Given the description of an element on the screen output the (x, y) to click on. 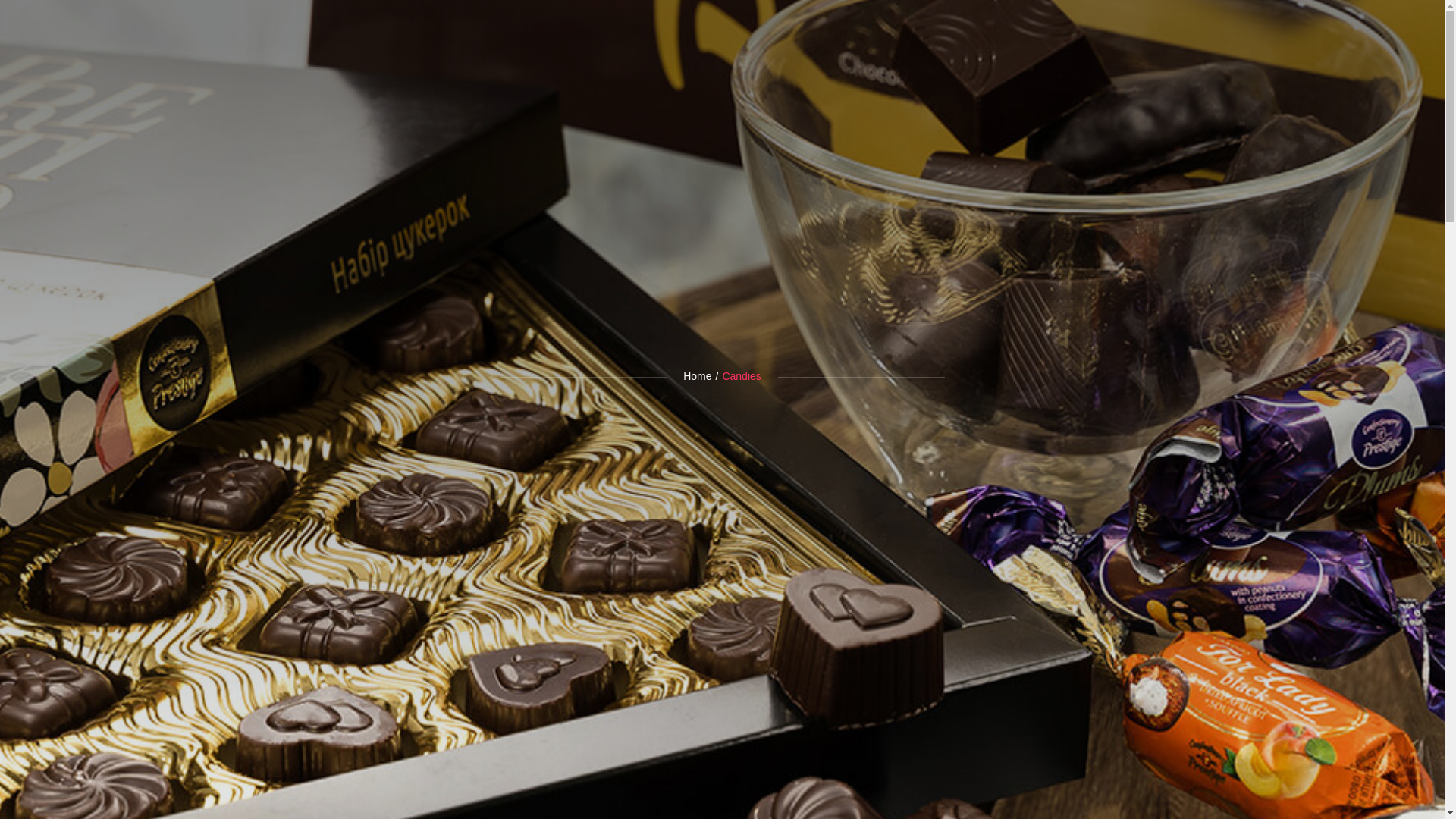
Home (696, 376)
Home (696, 376)
